Given the description of an element on the screen output the (x, y) to click on. 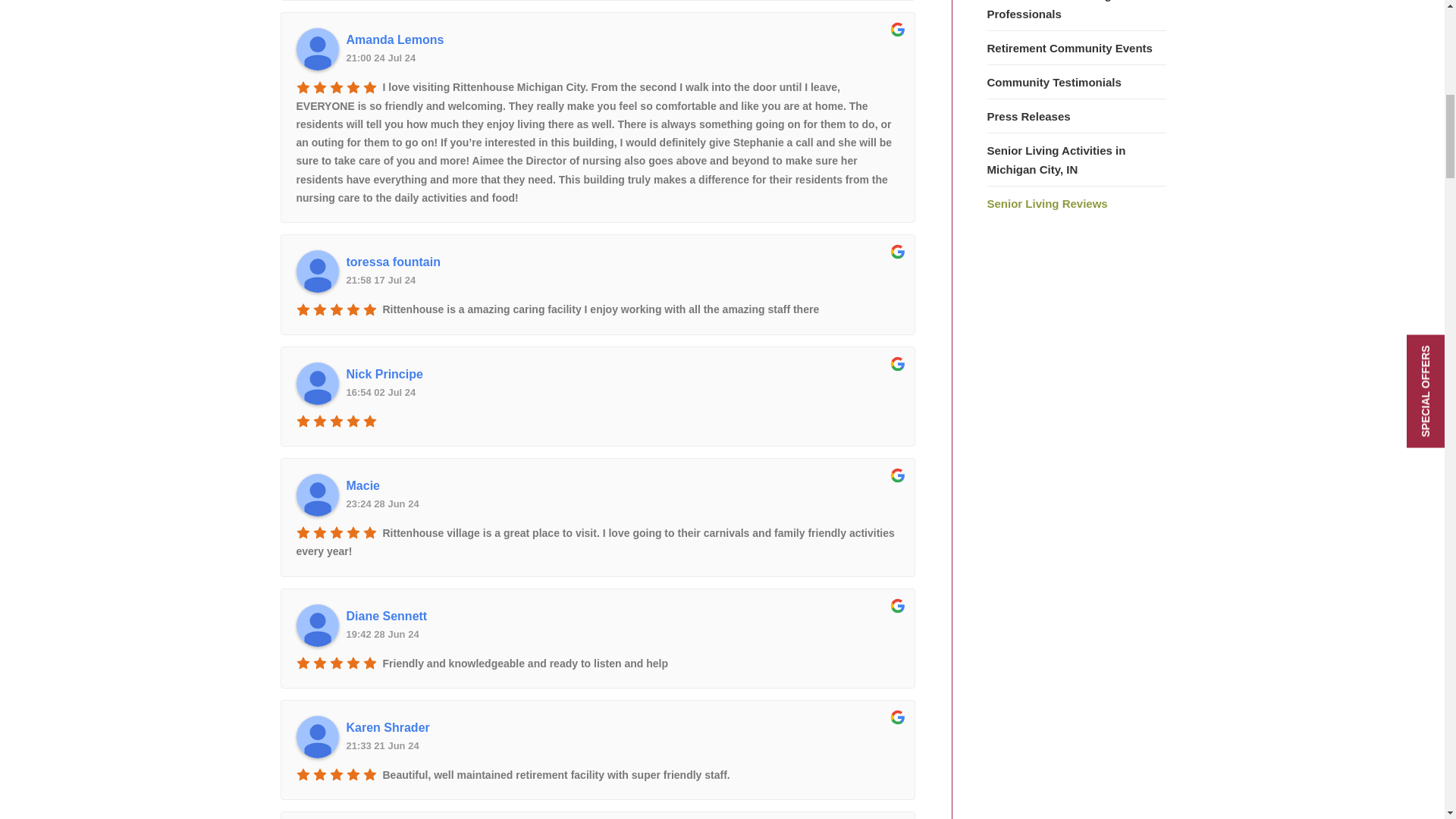
Macie (316, 495)
Nick Principe (316, 383)
toressa fountain (622, 262)
toressa fountain (316, 271)
Amanda Lemons (316, 48)
Amanda Lemons (622, 40)
Nick Principe (622, 374)
